Given the description of an element on the screen output the (x, y) to click on. 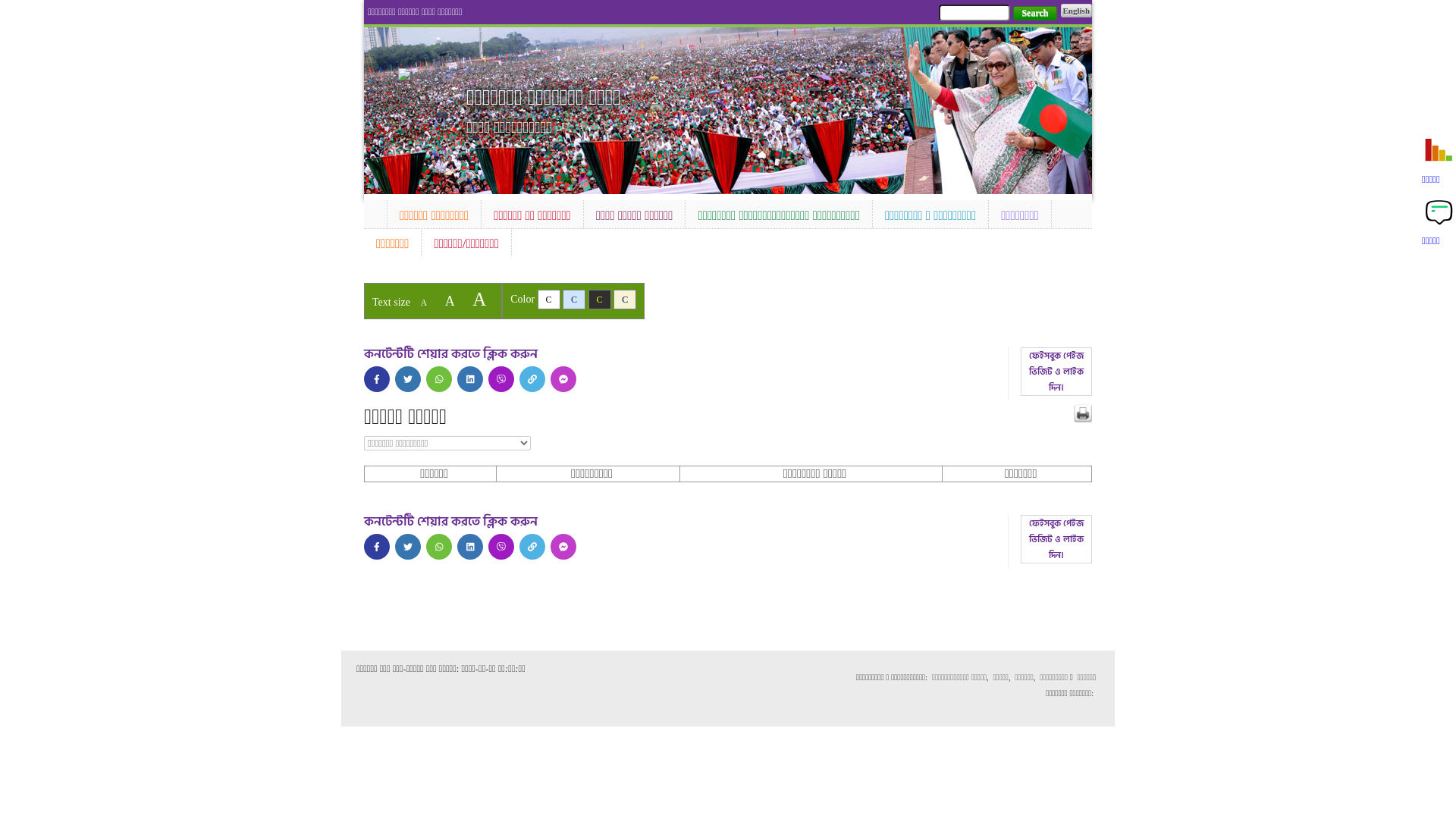
Home Element type: hover (424, 76)
A Element type: text (423, 302)
C Element type: text (599, 299)
C Element type: text (624, 299)
A Element type: text (449, 300)
English Element type: text (1076, 10)
A Element type: text (478, 299)
Search Element type: text (1034, 13)
Home Element type: hover (375, 211)
C Element type: text (548, 299)
C Element type: text (573, 299)
